Given the description of an element on the screen output the (x, y) to click on. 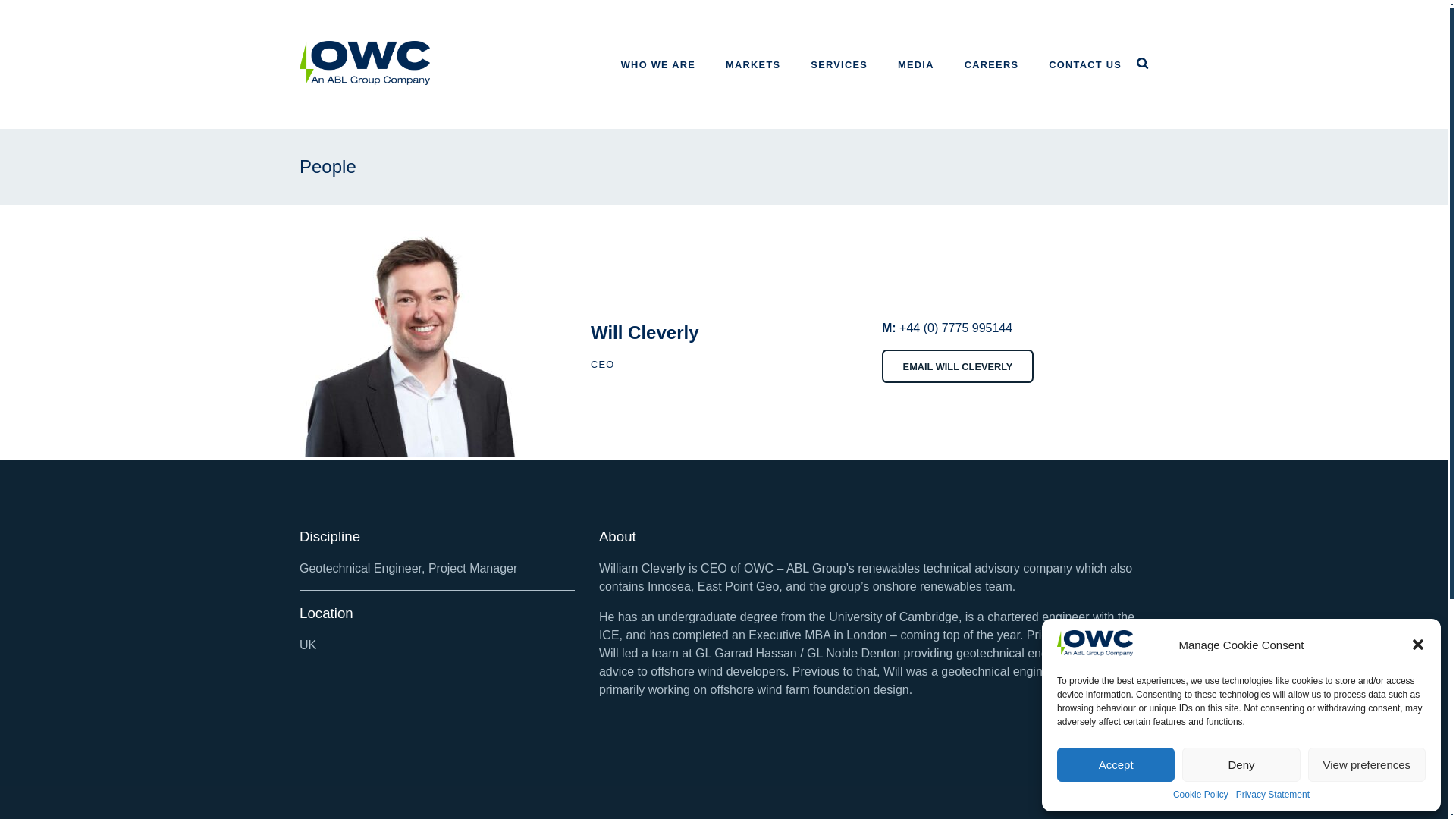
Privacy Statement (1272, 794)
Accept (1115, 764)
WHO WE ARE (658, 64)
Deny (1241, 764)
SERVICES (838, 64)
View preferences (1366, 764)
MARKETS (752, 64)
Cookie Policy (1200, 794)
